Given the description of an element on the screen output the (x, y) to click on. 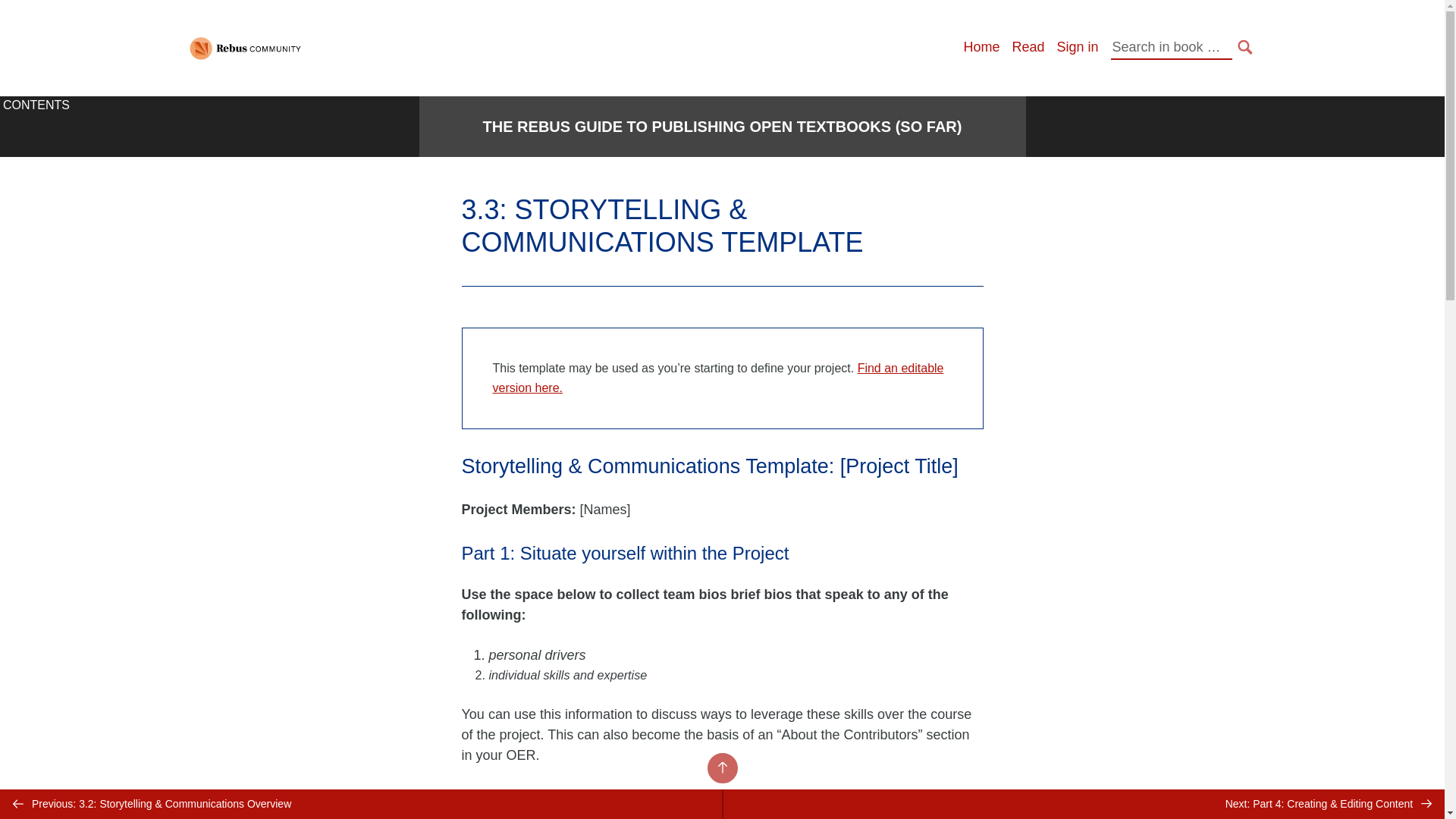
Sign in (1077, 46)
BACK TO TOP (721, 767)
Find an editable version here. (718, 377)
Read (1027, 46)
Home (980, 46)
